Given the description of an element on the screen output the (x, y) to click on. 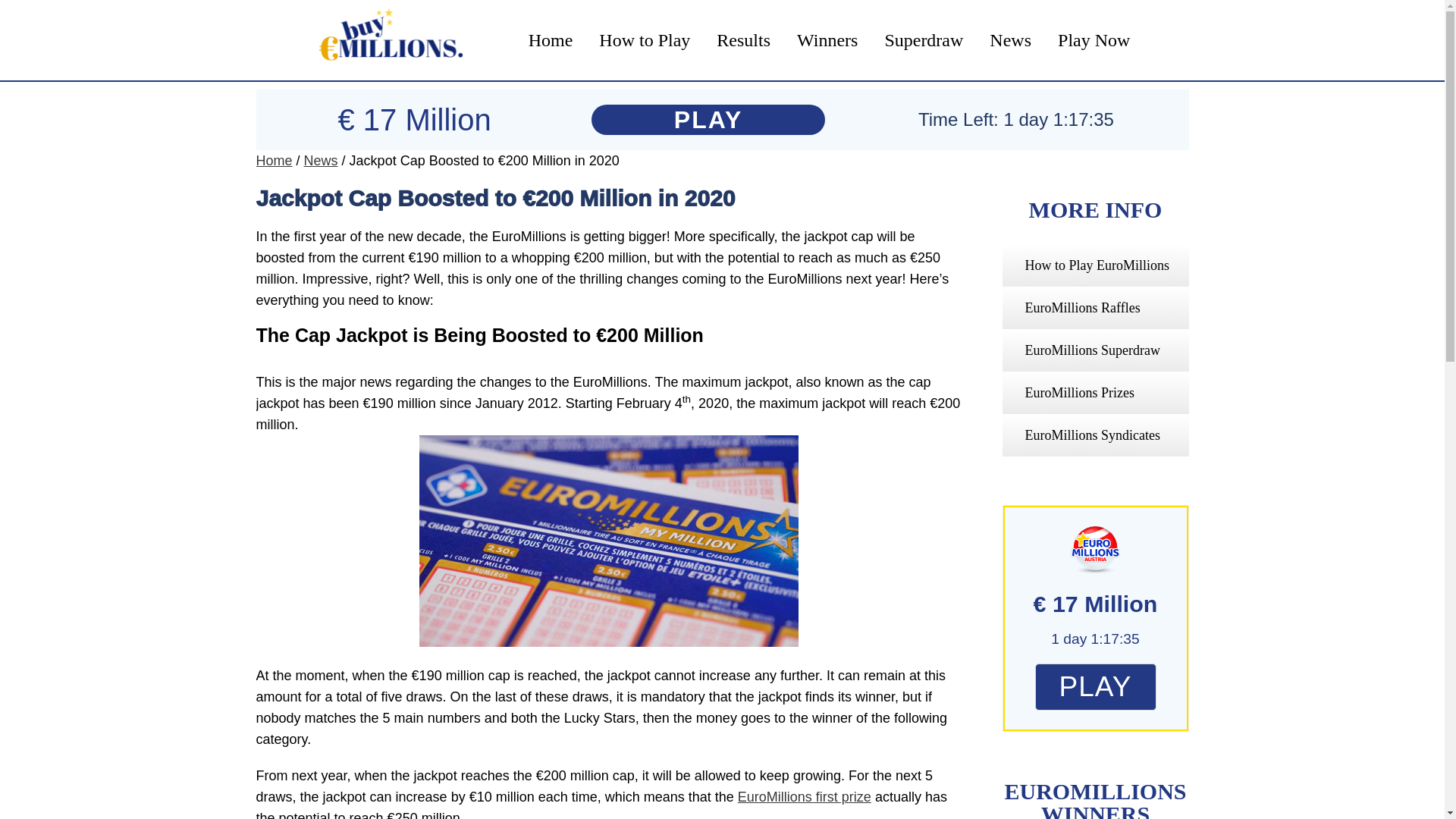
PLAY (1094, 689)
Play Now (1093, 39)
PLAY (1094, 686)
How to Play (644, 39)
Home (550, 39)
BUY EUROMILLIONS (384, 40)
EuroMillions first prize (804, 796)
News (320, 160)
Winners (827, 39)
News (1010, 39)
EuroMillions Syndicates (1092, 435)
EuroMillions Superdraw (1092, 350)
EuroMillions Raffles (1082, 307)
PLAY (708, 119)
Home (274, 160)
